Given the description of an element on the screen output the (x, y) to click on. 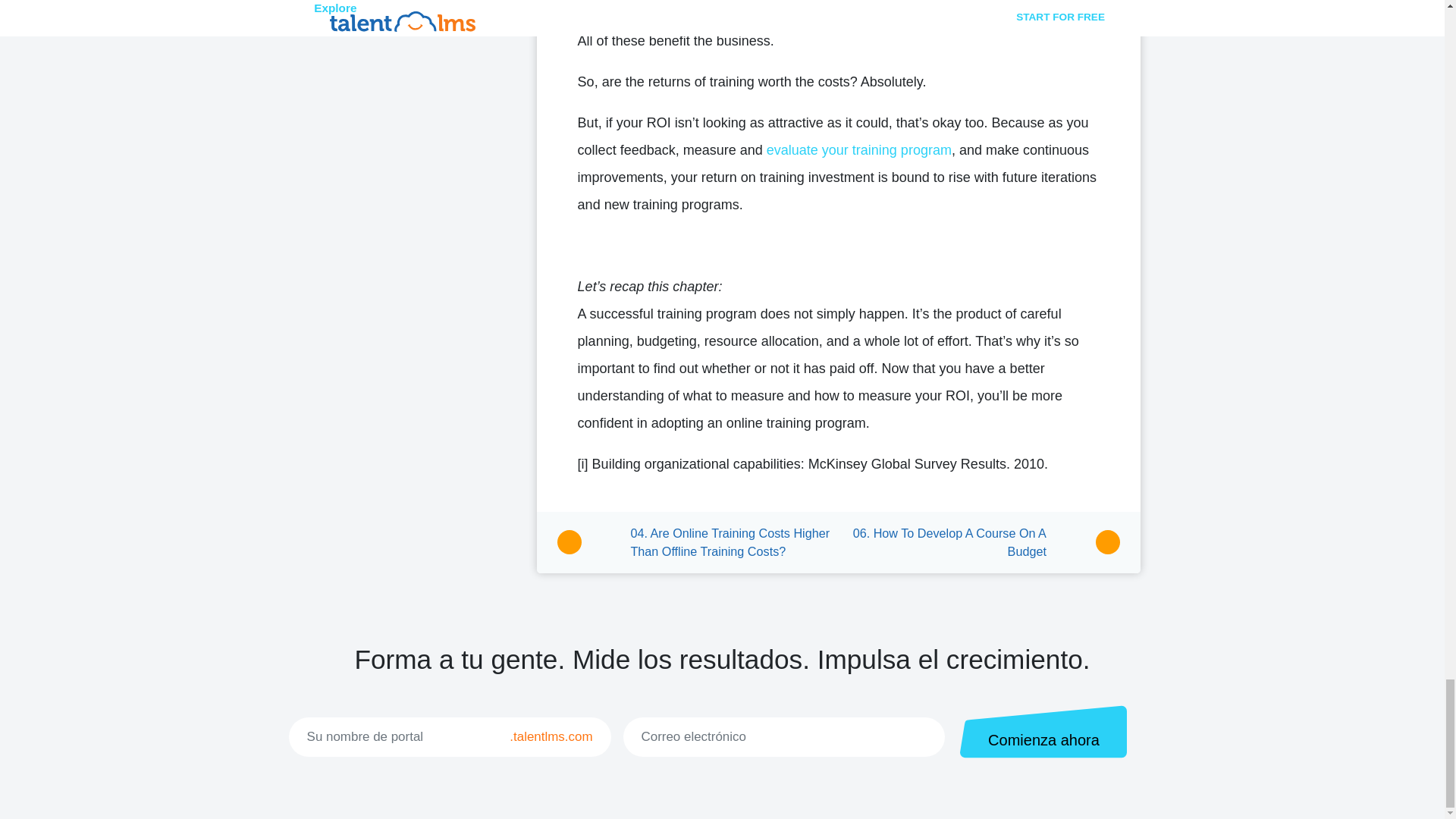
Comienza ahora (1042, 731)
evaluate your training program (859, 150)
06. How To Develop A Course On A Budget (978, 542)
How To Develop A Course On A Budget (978, 542)
